Given the description of an element on the screen output the (x, y) to click on. 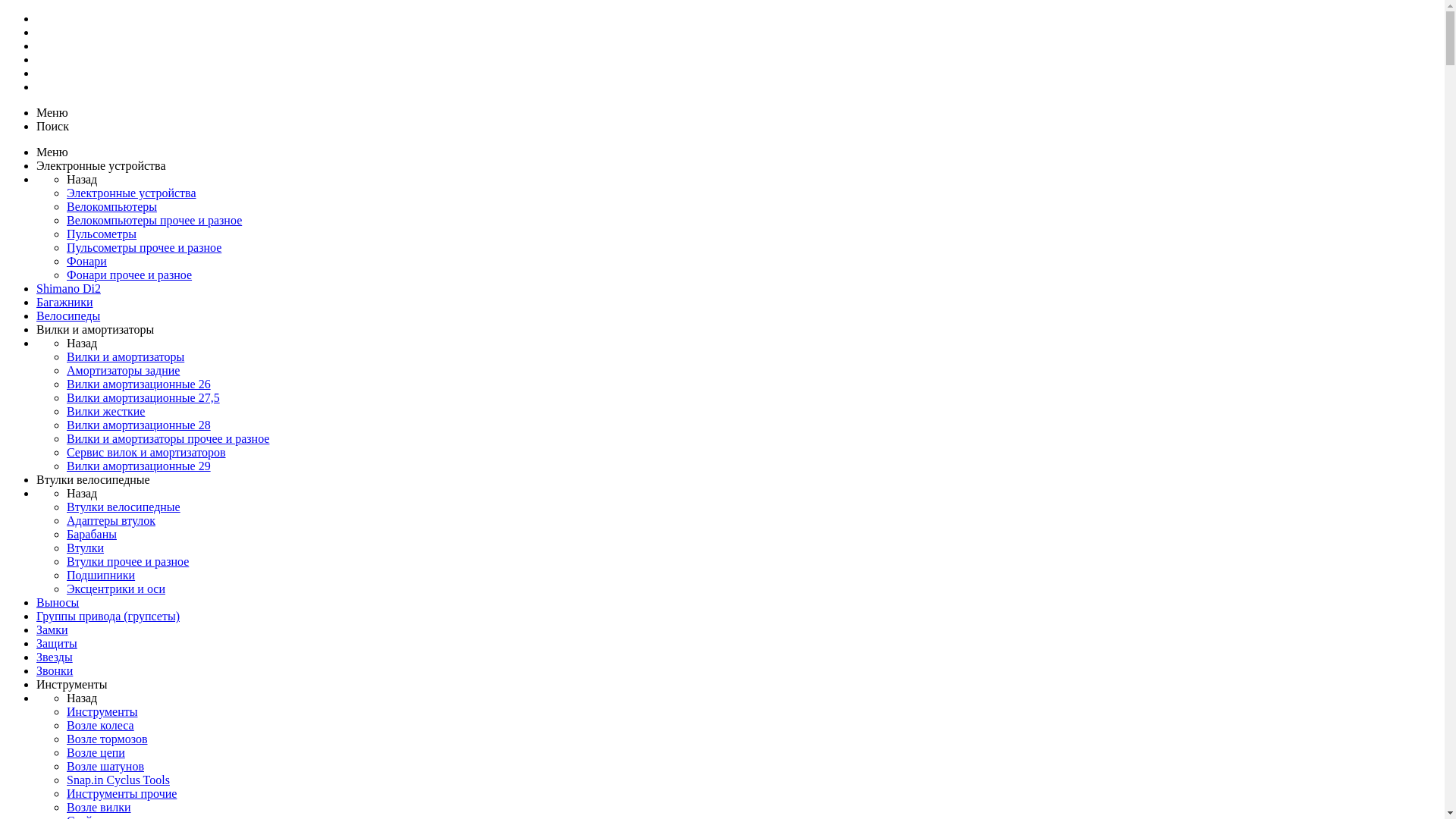
Snap.in Cyclus Tools Element type: text (117, 779)
Shimano Di2 Element type: text (68, 288)
